Given the description of an element on the screen output the (x, y) to click on. 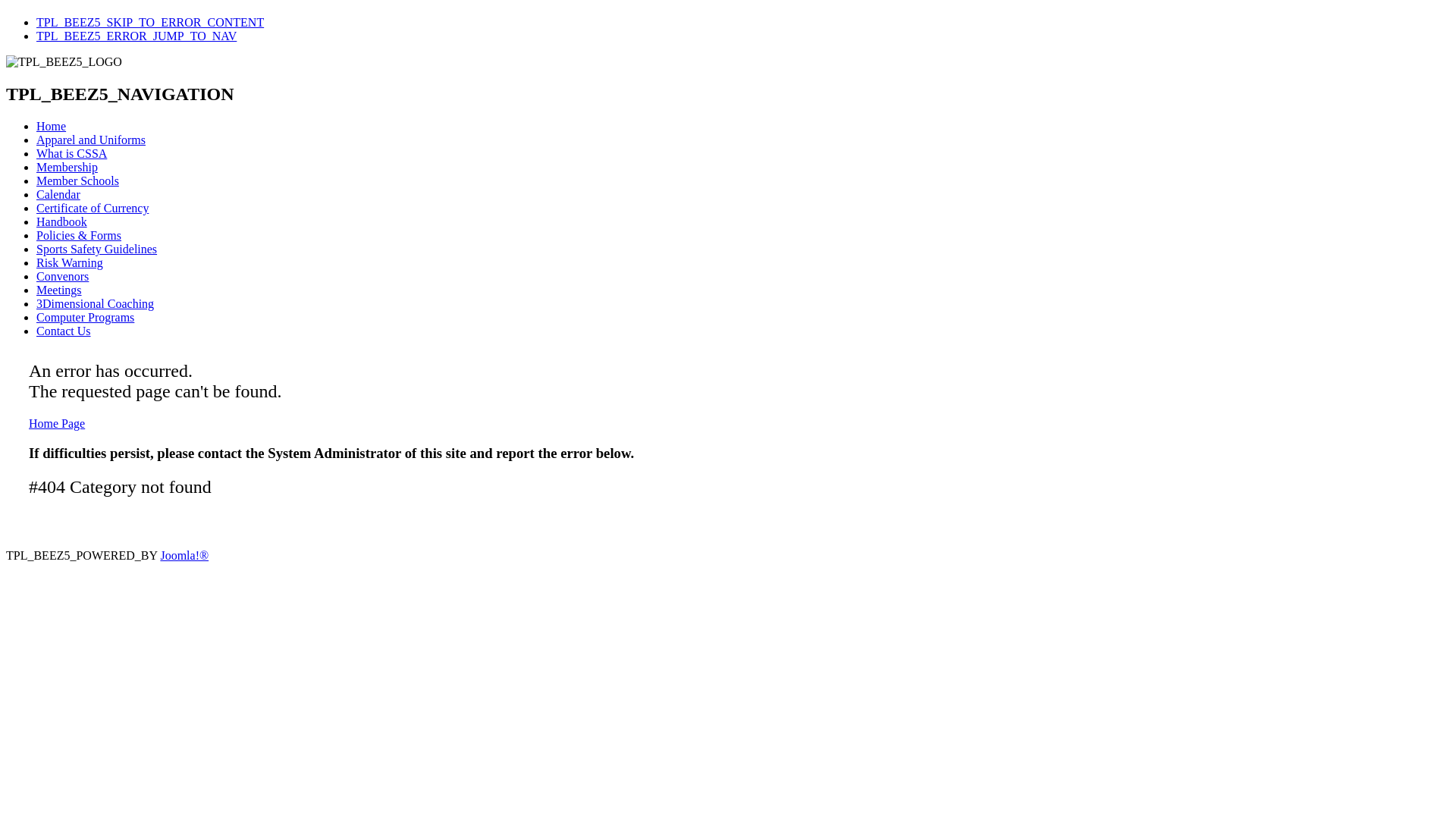
3Dimensional Coaching Element type: text (94, 303)
Apparel and Uniforms Element type: text (90, 139)
Risk Warning Element type: text (69, 262)
TPL_BEEZ5_ERROR_JUMP_TO_NAV Element type: text (136, 35)
Sports Safety Guidelines Element type: text (96, 248)
Meetings Element type: text (58, 289)
Member Schools Element type: text (77, 180)
Calendar Element type: text (58, 194)
Computer Programs Element type: text (85, 316)
Certificate of Currency Element type: text (92, 207)
Home Element type: text (50, 125)
Policies & Forms Element type: text (78, 235)
Home Page Element type: text (56, 423)
TPL_BEEZ5_SKIP_TO_ERROR_CONTENT Element type: text (149, 21)
Convenors Element type: text (62, 275)
Handbook Element type: text (61, 221)
Membership Element type: text (66, 166)
Contact Us Element type: text (63, 330)
What is CSSA Element type: text (71, 153)
